Given the description of an element on the screen output the (x, y) to click on. 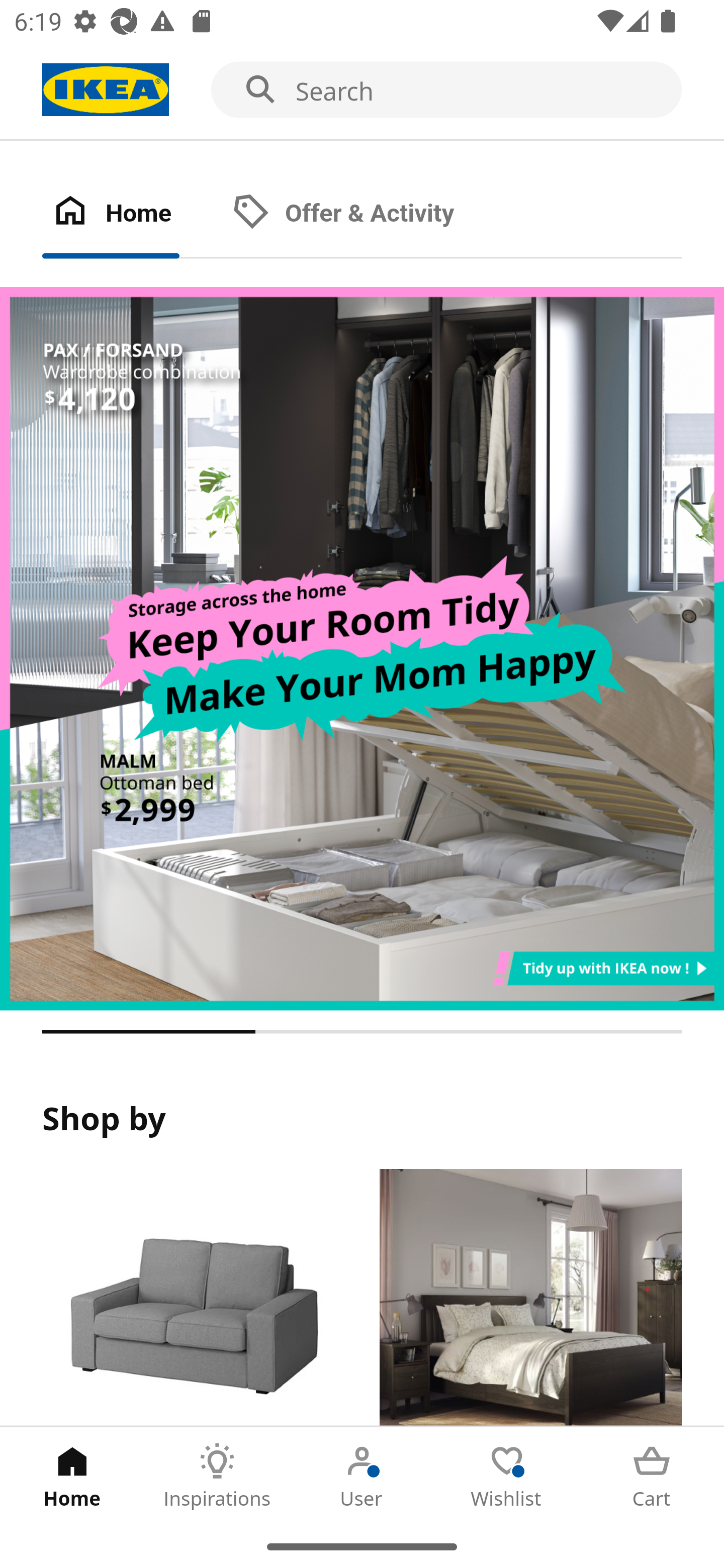
Search (361, 90)
Home
Tab 1 of 2 (131, 213)
Offer & Activity
Tab 2 of 2 (363, 213)
Products (192, 1297)
Rooms (530, 1297)
Home
Tab 1 of 5 (72, 1476)
Inspirations
Tab 2 of 5 (216, 1476)
User
Tab 3 of 5 (361, 1476)
Wishlist
Tab 4 of 5 (506, 1476)
Cart
Tab 5 of 5 (651, 1476)
